Given the description of an element on the screen output the (x, y) to click on. 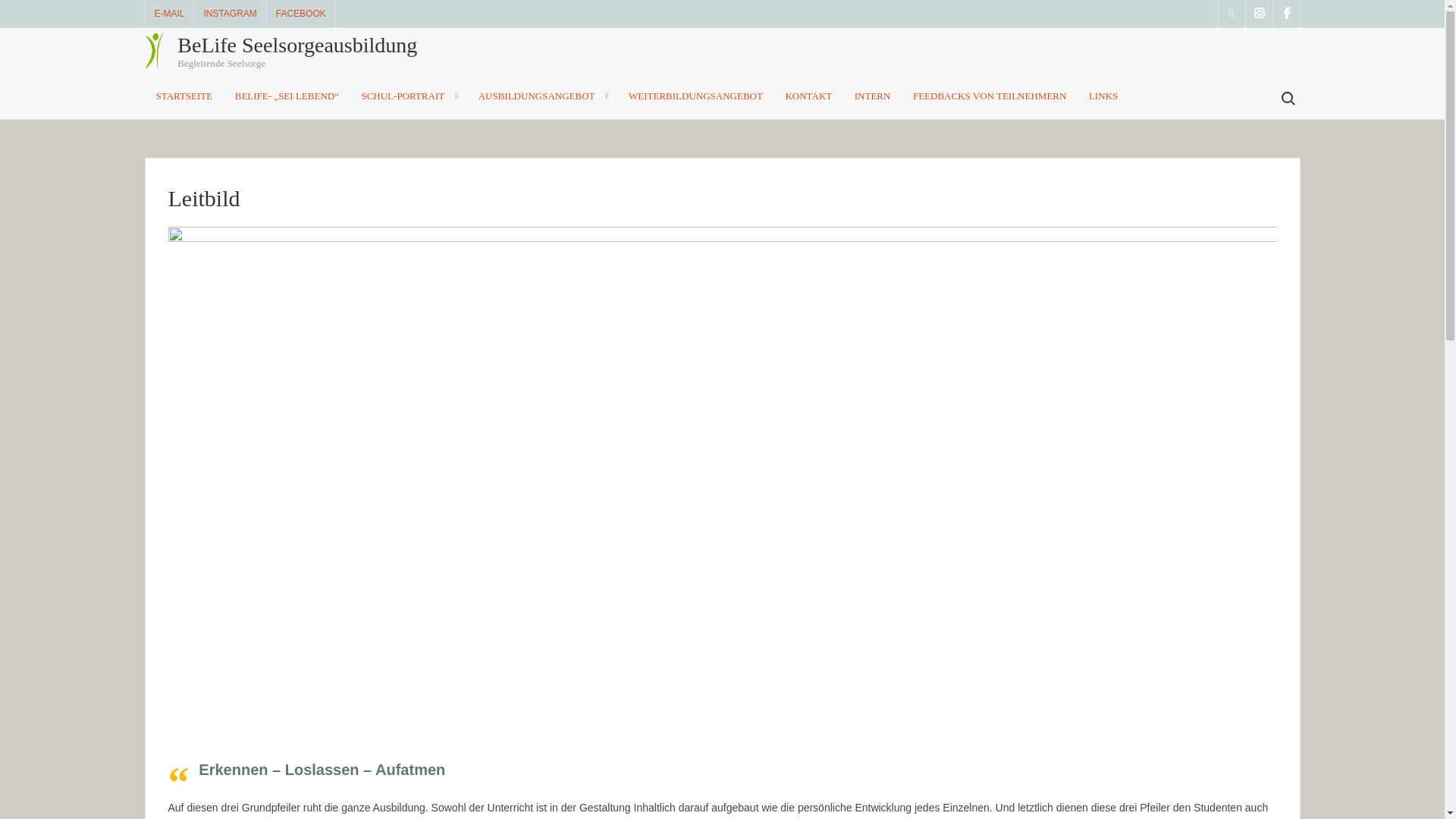
SCHUL-PORTRAIT Element type: text (408, 96)
FEEDBACKS VON TEILNEHMERN Element type: text (989, 96)
Search for: Element type: text (1286, 98)
E-MAIL Element type: text (169, 13)
LINKS Element type: text (1103, 96)
STARTSEITE Element type: text (183, 96)
INSTAGRAM Element type: text (229, 13)
AUSBILDUNGSANGEBOT Element type: text (542, 96)
BeLife Seelsorgeausbildung Element type: text (297, 44)
KONTAKT Element type: text (808, 96)
INTERN Element type: text (872, 96)
FACEBOOK Element type: text (300, 13)
WEITERBILDUNGSANGEBOT Element type: text (695, 96)
